Given the description of an element on the screen output the (x, y) to click on. 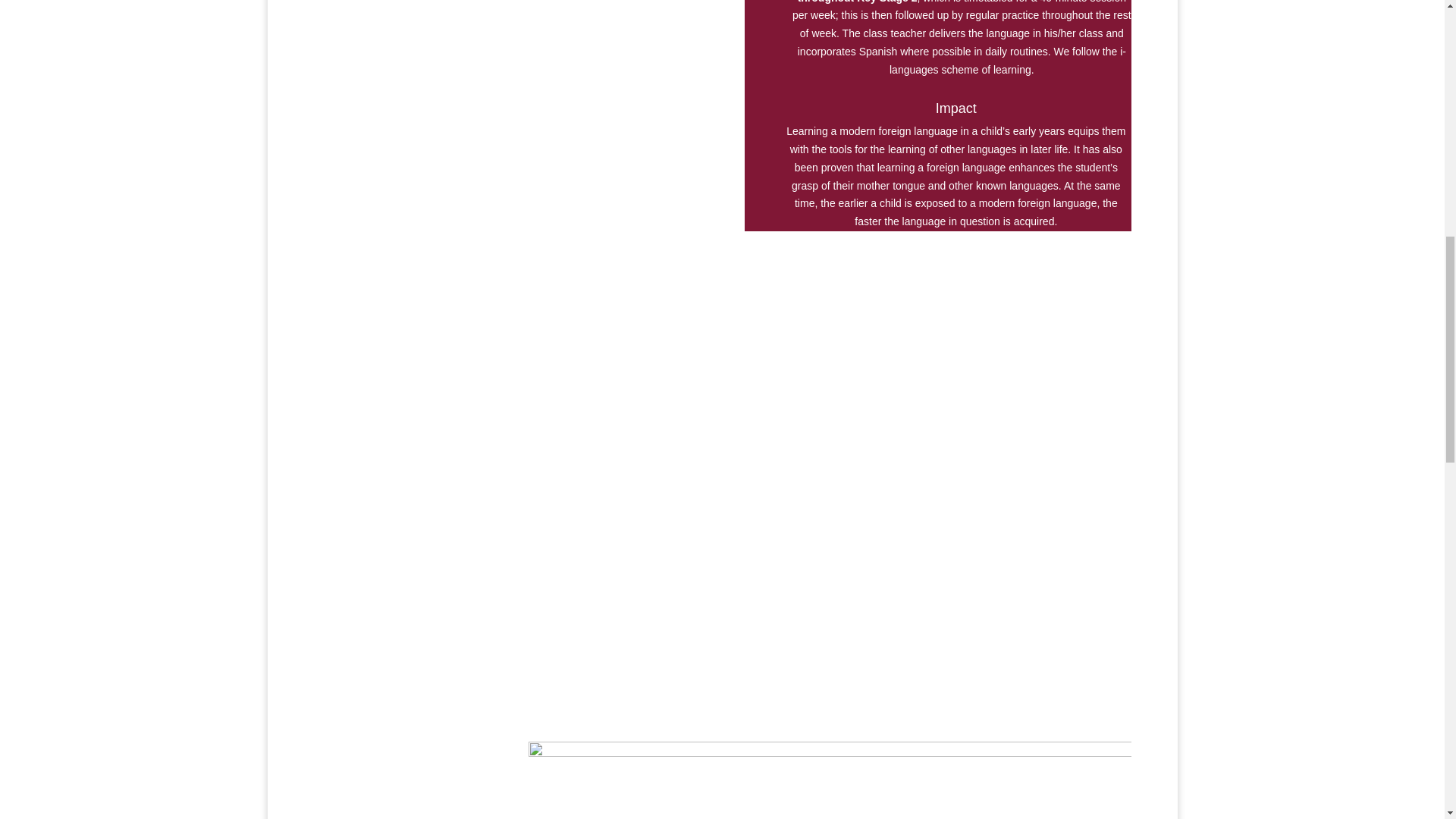
WEsbite example (829, 780)
